Given the description of an element on the screen output the (x, y) to click on. 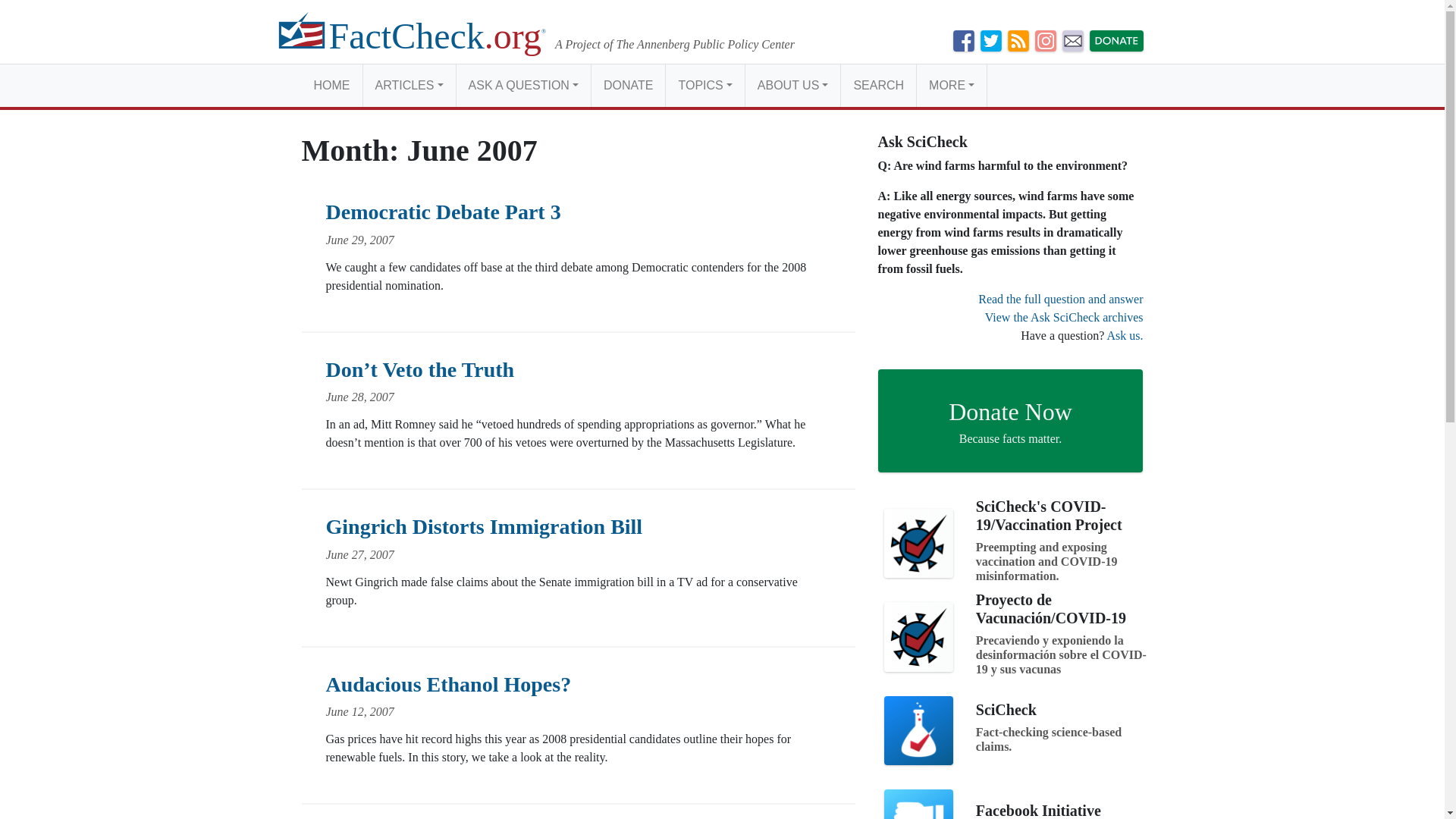
Home (331, 85)
ABOUT US (792, 85)
Ask a Question (524, 85)
Donate (627, 85)
ARTICLES (408, 85)
ASK A QUESTION (524, 85)
Topics (704, 85)
DONATE (627, 85)
HOME (331, 85)
